Given the description of an element on the screen output the (x, y) to click on. 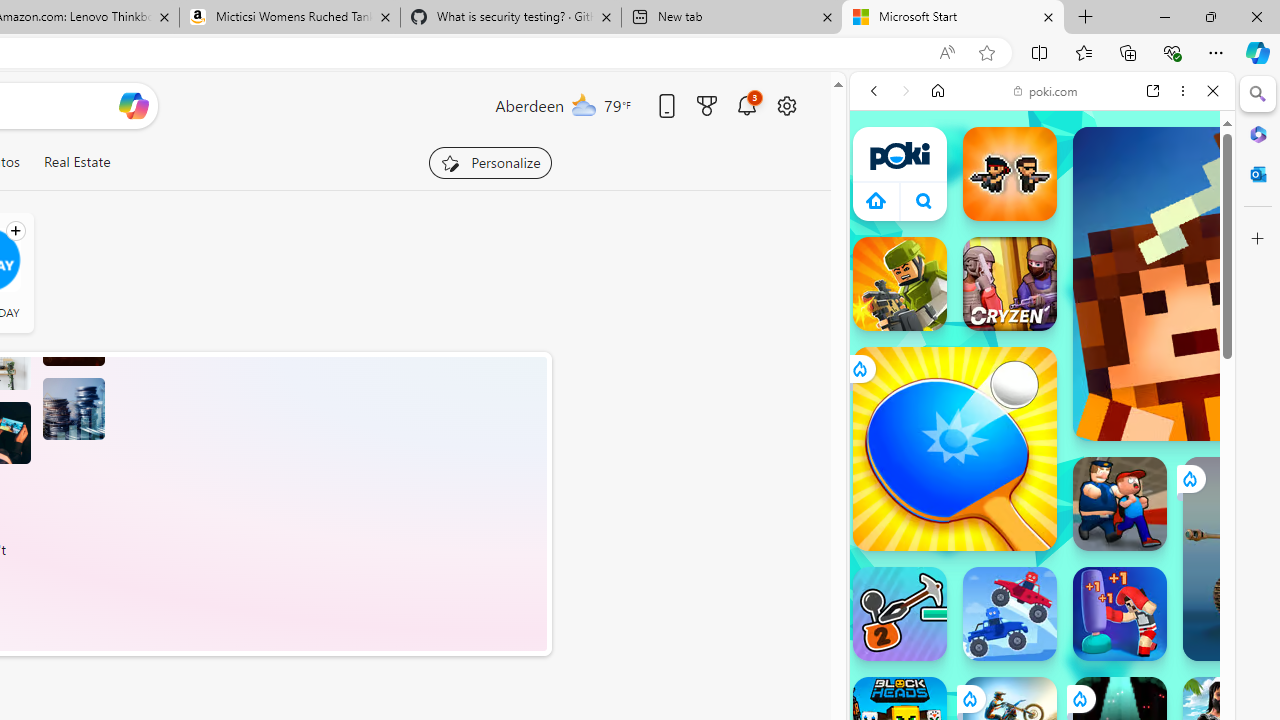
Poki - Free Online Games - Play Now! (1034, 309)
Mostly cloudy (584, 104)
Kour.io (899, 283)
Punch Legend Simulator (1119, 613)
